Given the description of an element on the screen output the (x, y) to click on. 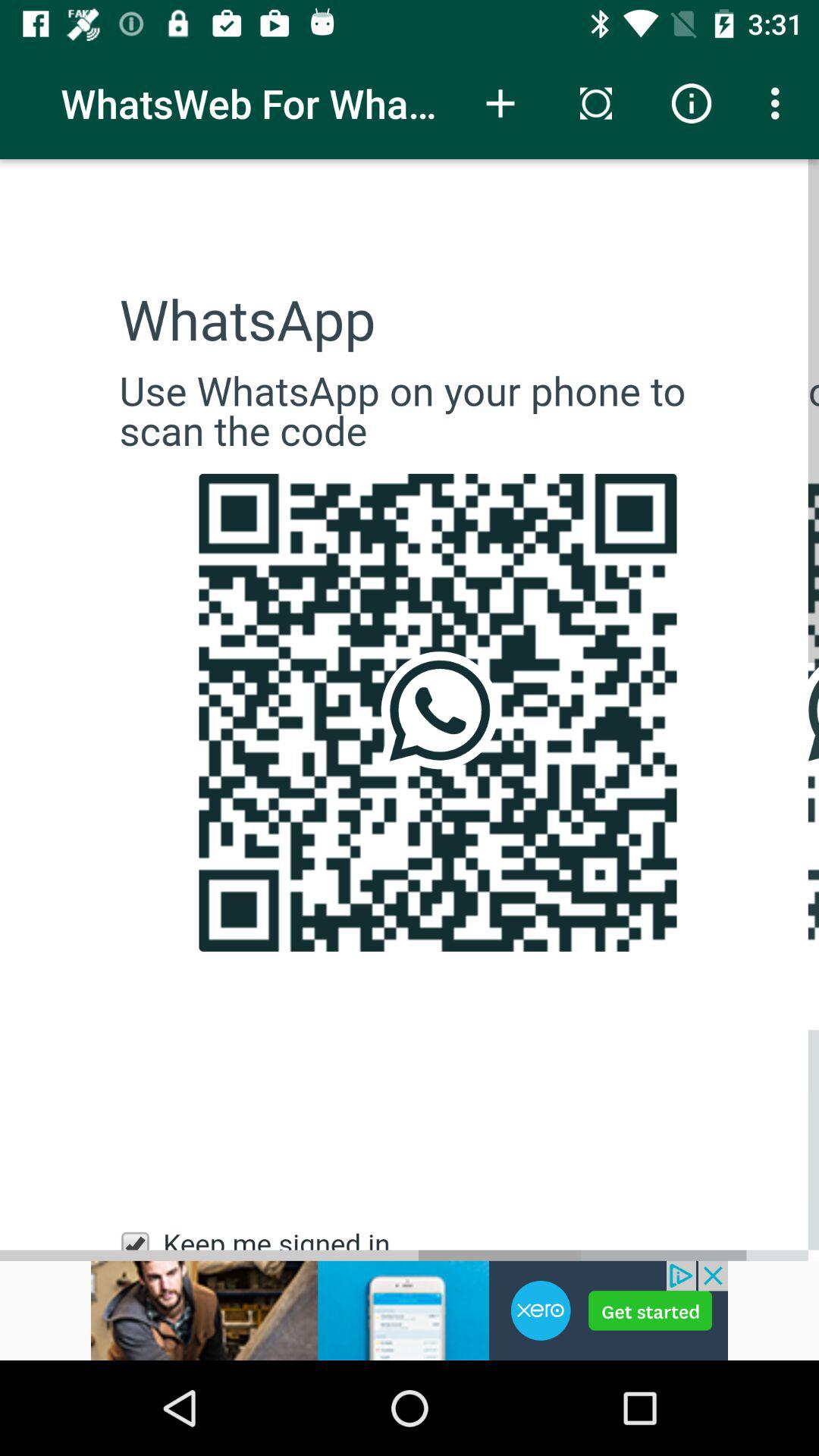
advertisement we close it or view it (409, 1310)
